Given the description of an element on the screen output the (x, y) to click on. 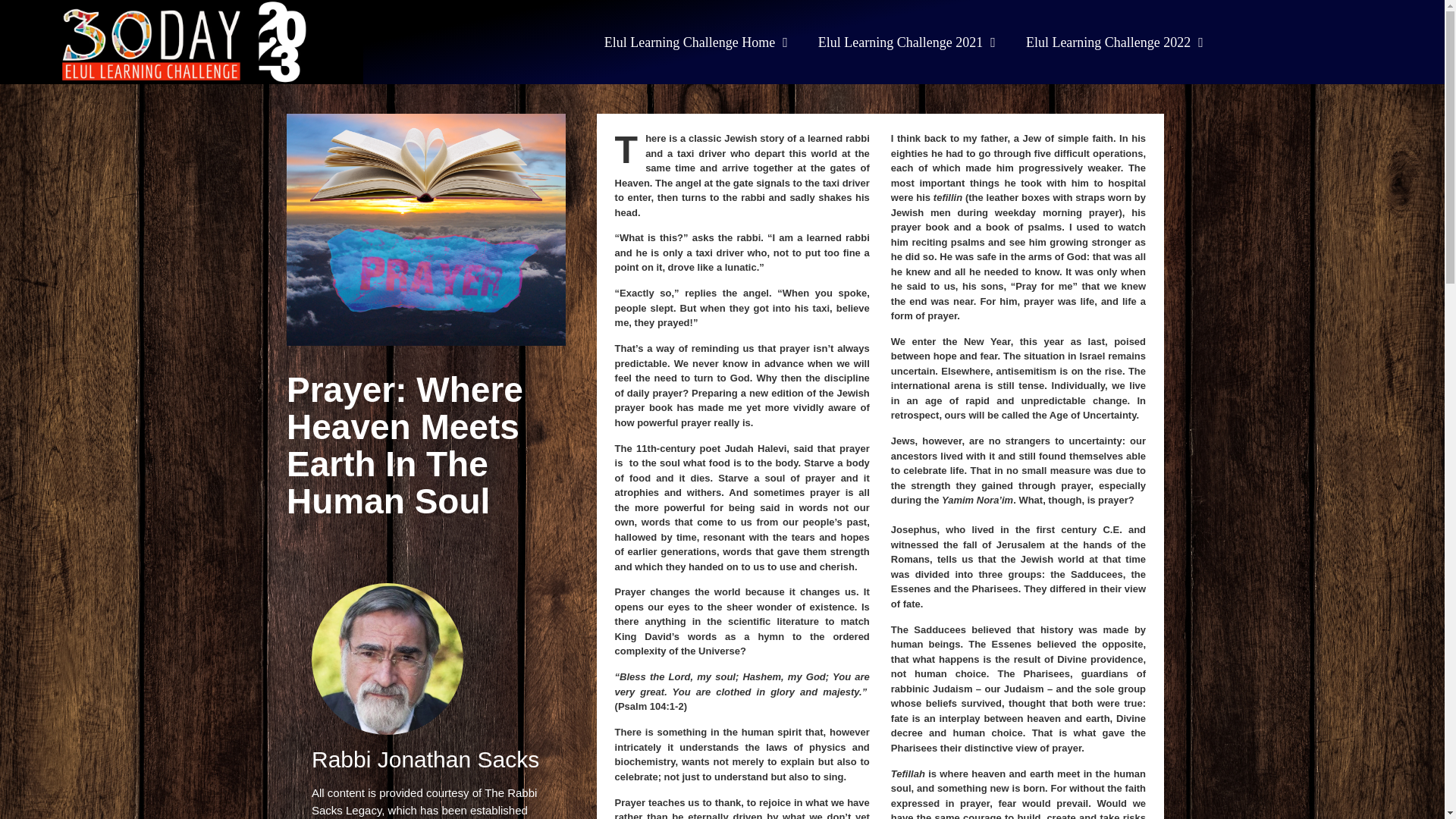
Elul Learning Challenge Home (696, 41)
Elul Learning Challenge 2022 (1114, 41)
Elul Learning Challenge 2021 (906, 41)
